Given the description of an element on the screen output the (x, y) to click on. 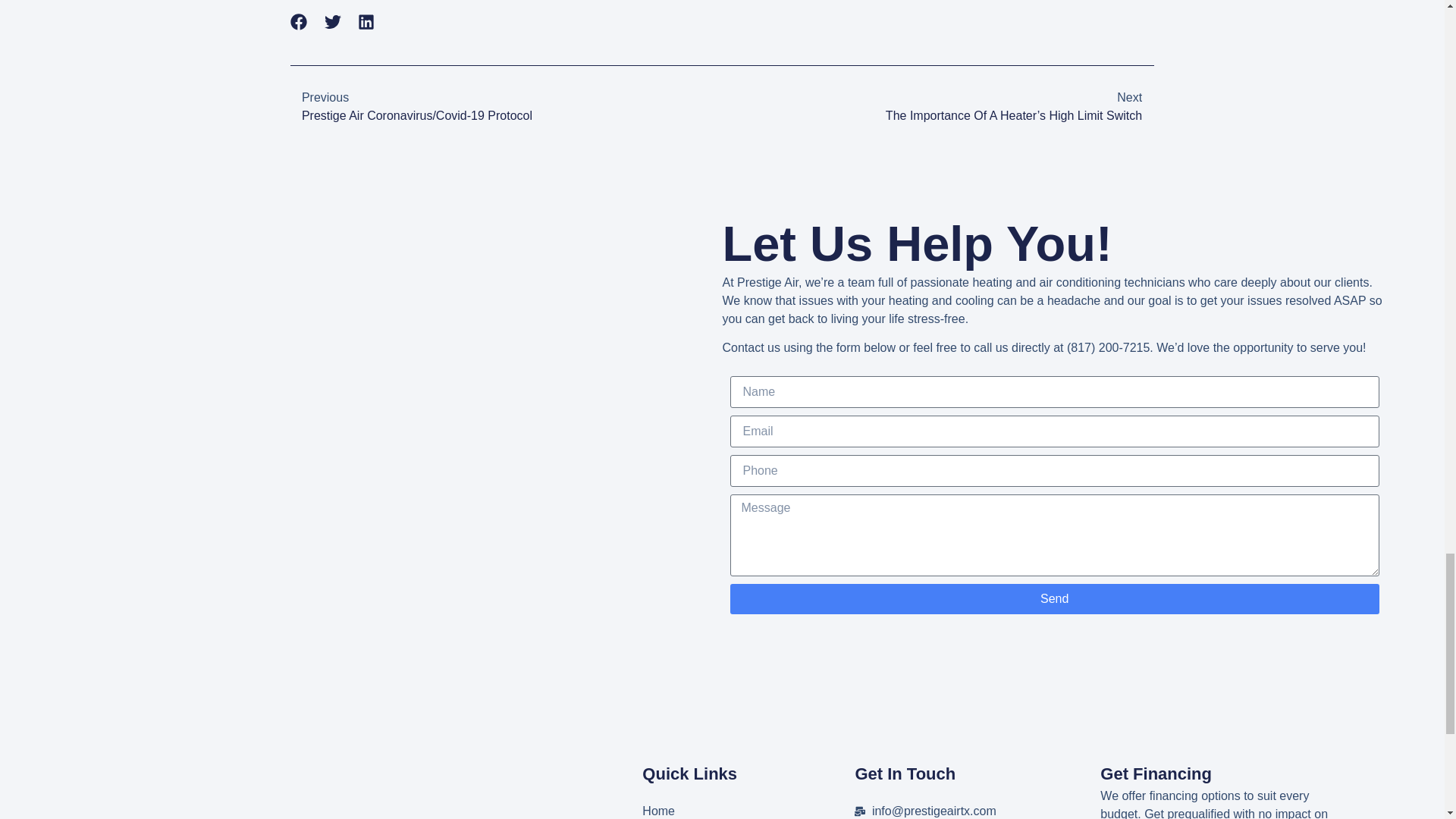
Home (748, 810)
Send (1053, 598)
